Given the description of an element on the screen output the (x, y) to click on. 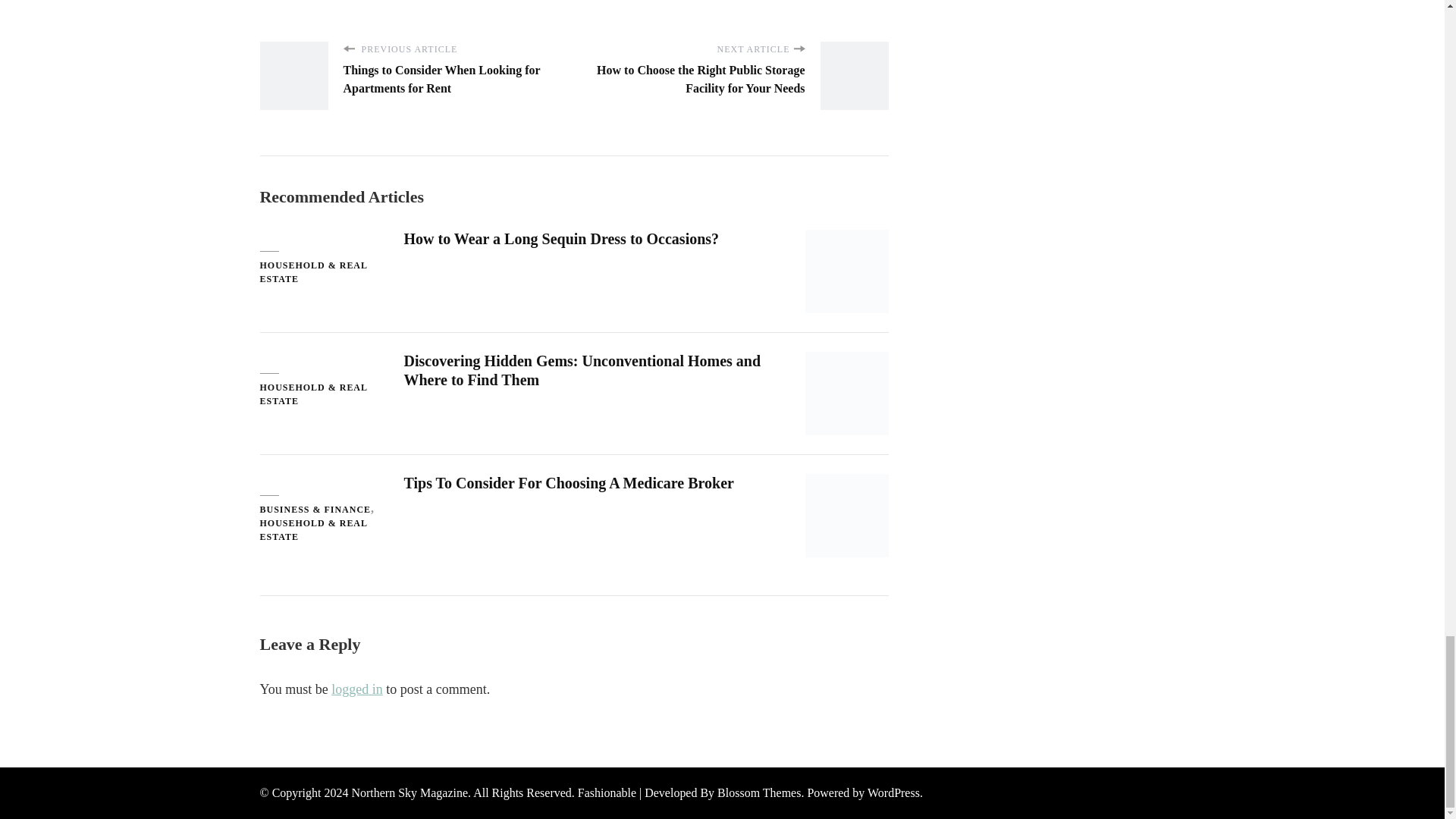
How to Wear a Long Sequin Dress to Occasions? (561, 238)
Tips To Consider For Choosing A Medicare Broker (568, 483)
